Given the description of an element on the screen output the (x, y) to click on. 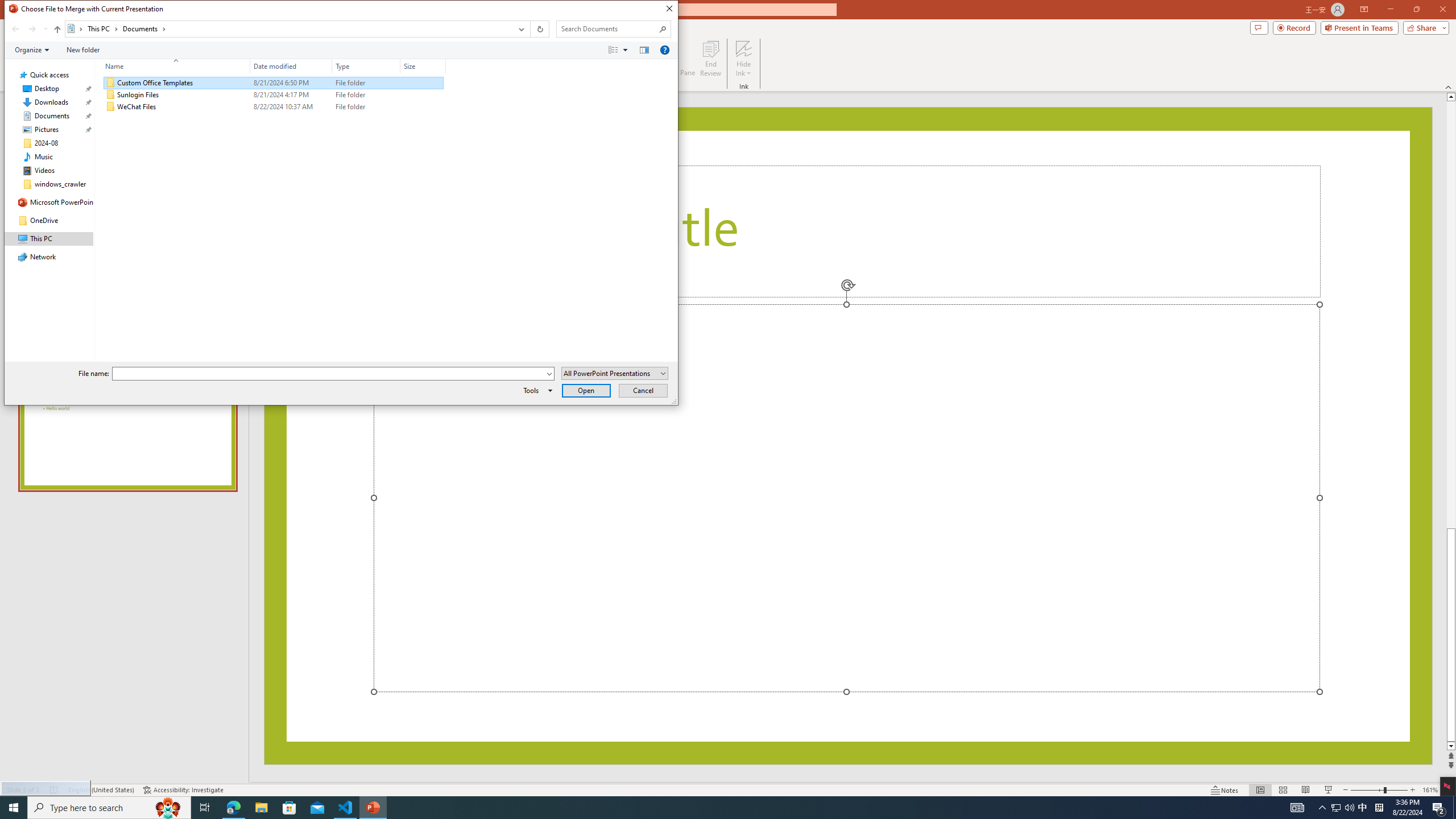
Date modified (290, 106)
Files of type: (615, 373)
View Slider (1362, 807)
File name: (625, 49)
Filter dropdown (333, 373)
Refresh "Documents" (F5) (440, 65)
Sunlogin Files (538, 28)
&Help (273, 94)
